Given the description of an element on the screen output the (x, y) to click on. 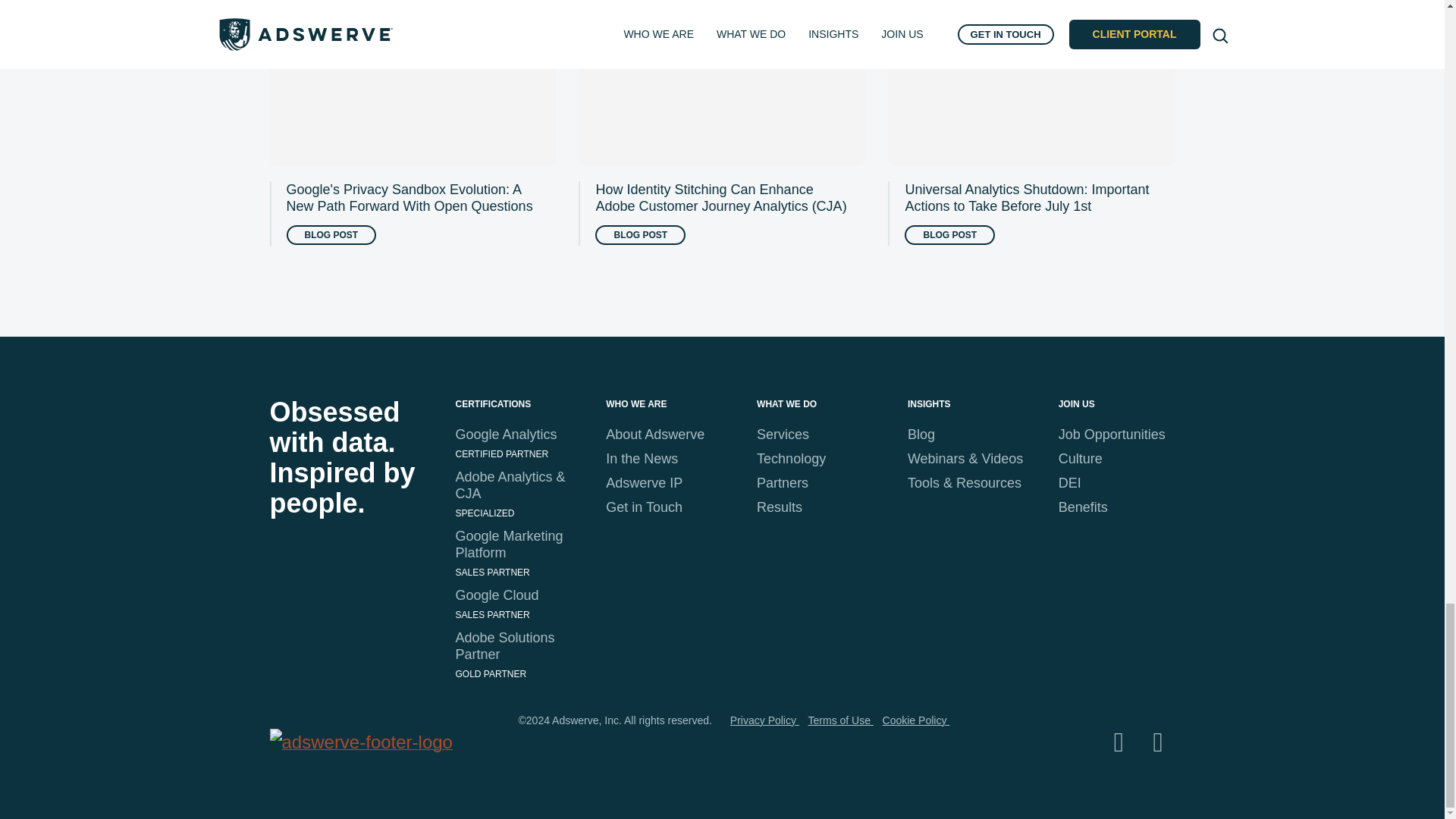
BLOG POST (640, 234)
BLOG POST (331, 234)
adswerve-footer-logo (367, 741)
